Given the description of an element on the screen output the (x, y) to click on. 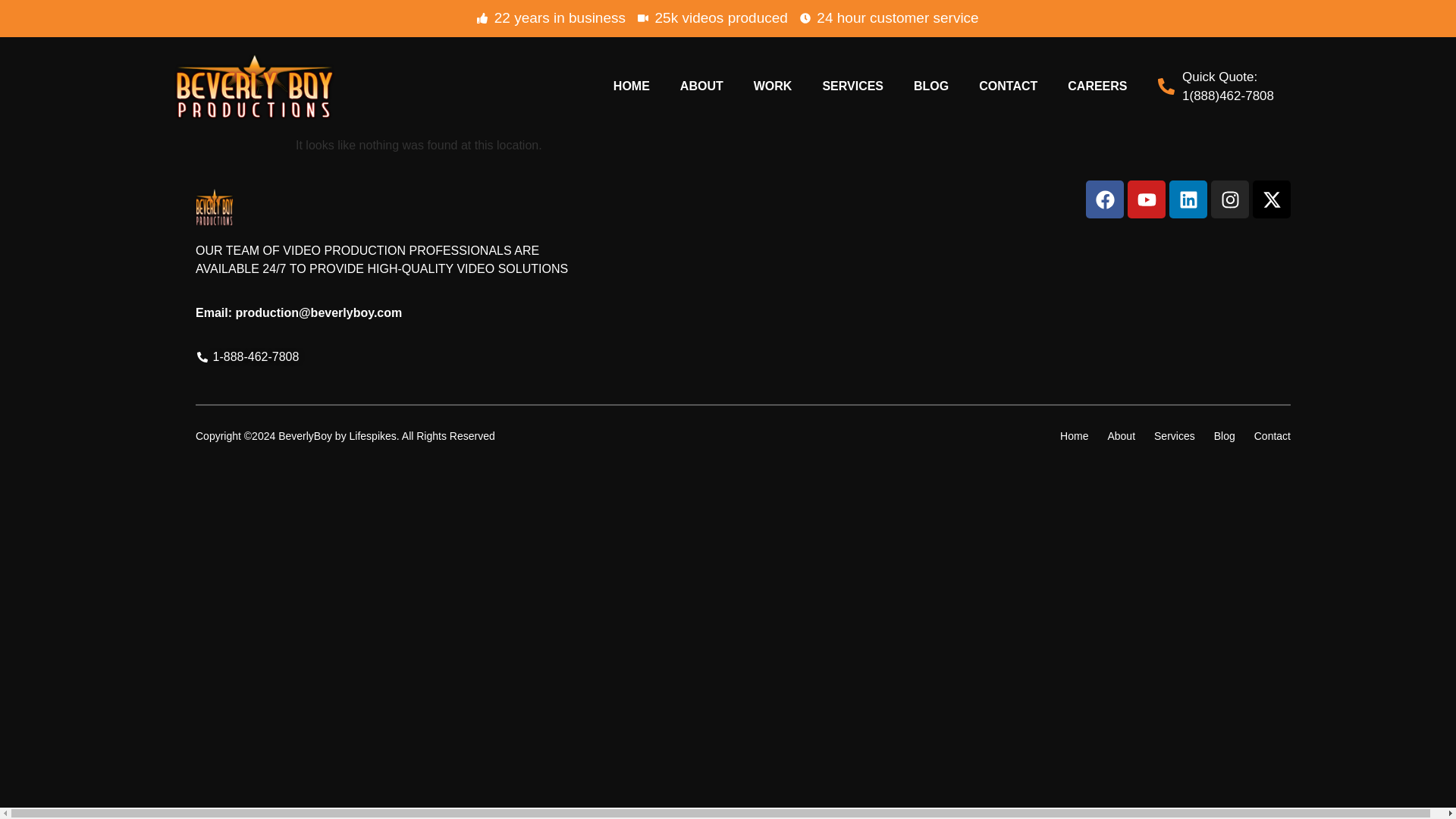
CONTACT (1007, 86)
CAREERS (1096, 86)
WORK (773, 86)
BLOG (930, 86)
ABOUT (701, 86)
HOME (631, 86)
SERVICES (852, 86)
